Given the description of an element on the screen output the (x, y) to click on. 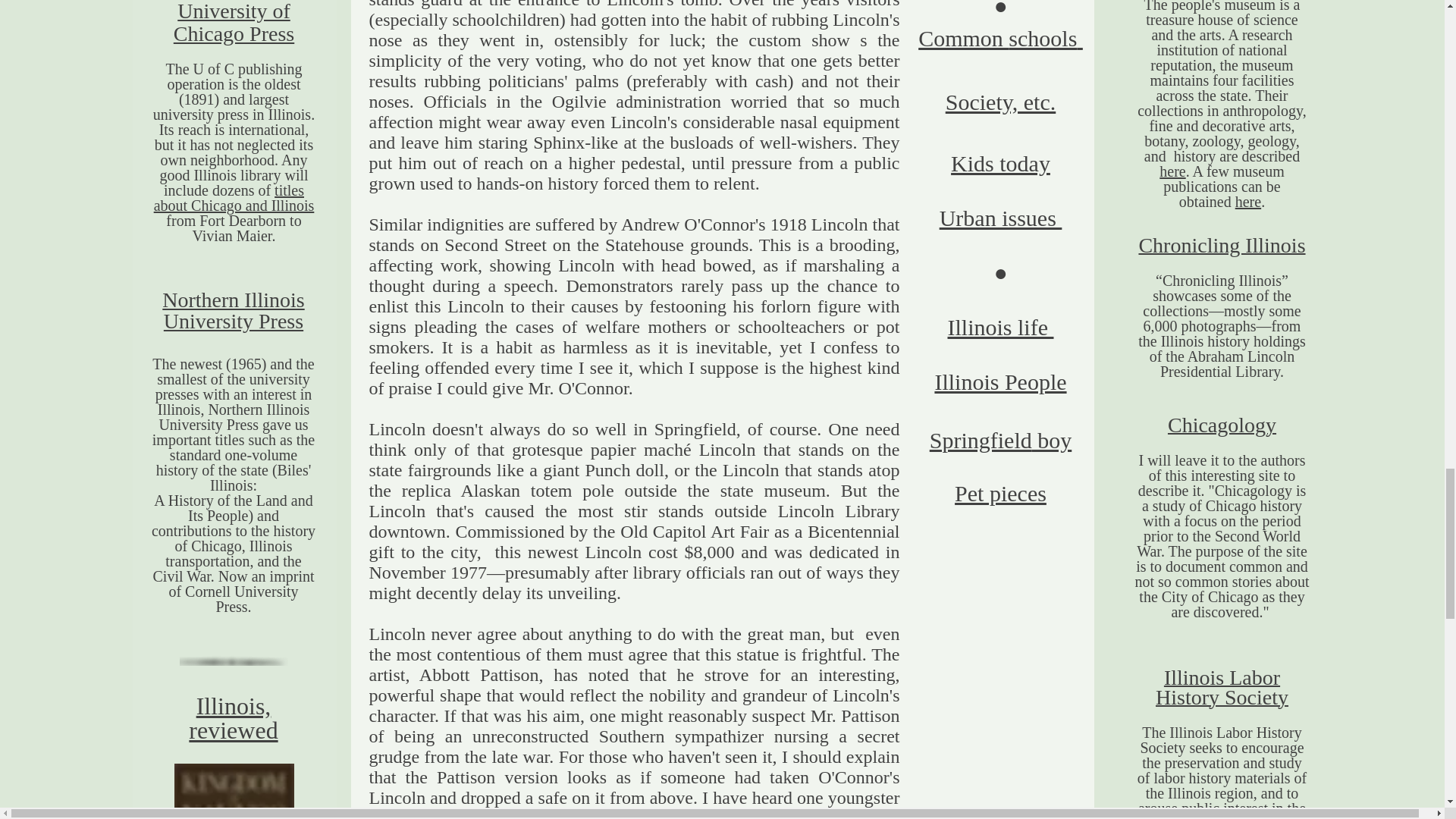
here (1171, 170)
Chicago Press (233, 33)
titles about Chicago and Illinois (234, 197)
Illinois, (233, 705)
here (1247, 201)
Chronicling Illinois (1221, 247)
Illinois Labor History Society (1222, 688)
reviewed (233, 729)
Northern Illinois University Press (232, 310)
Chicagology (1221, 426)
